Given the description of an element on the screen output the (x, y) to click on. 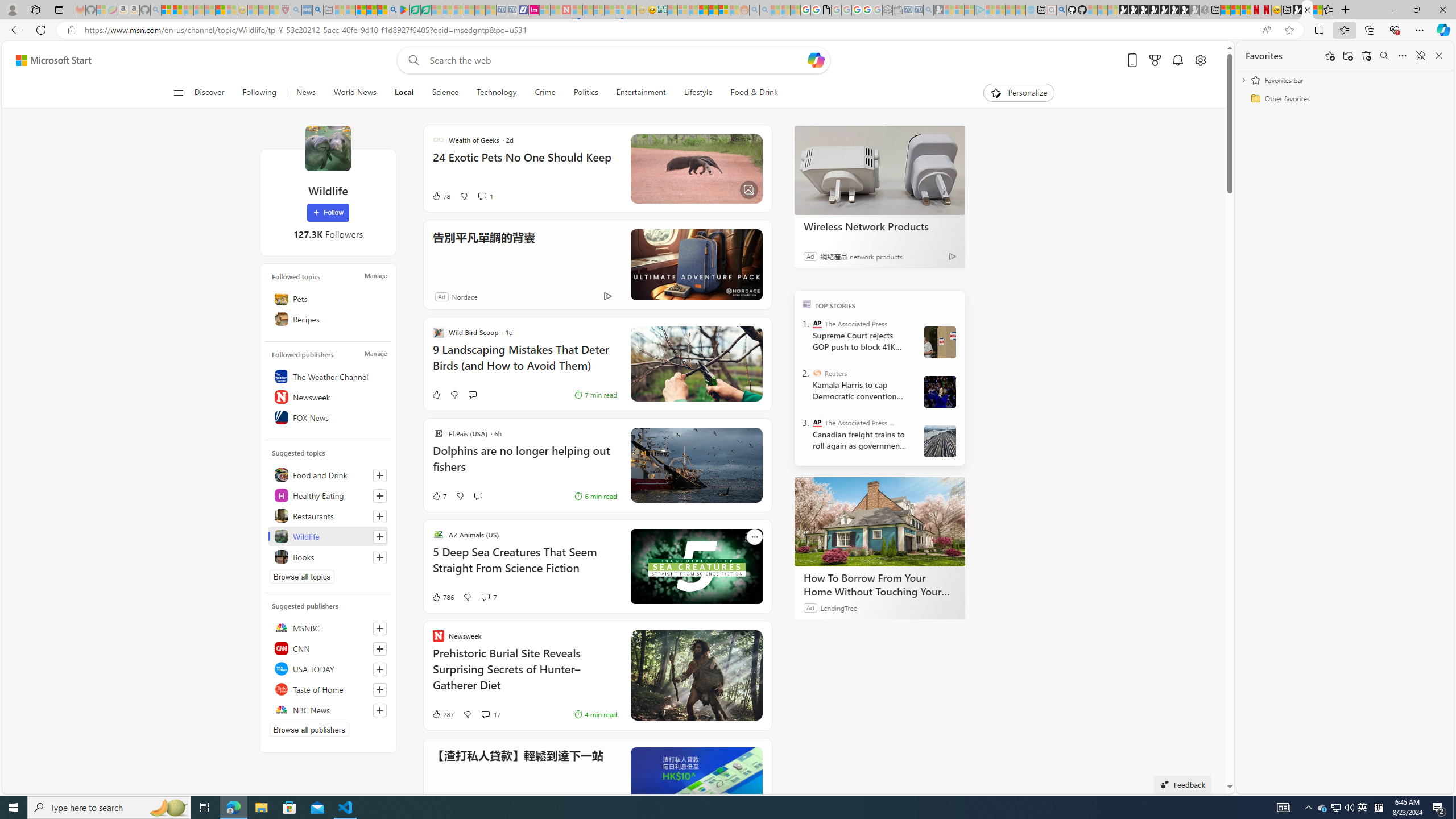
Pets - MSN (371, 9)
Microsoft Word - consumer-privacy address update 2.2021 (426, 9)
Pets (327, 298)
